Given the description of an element on the screen output the (x, y) to click on. 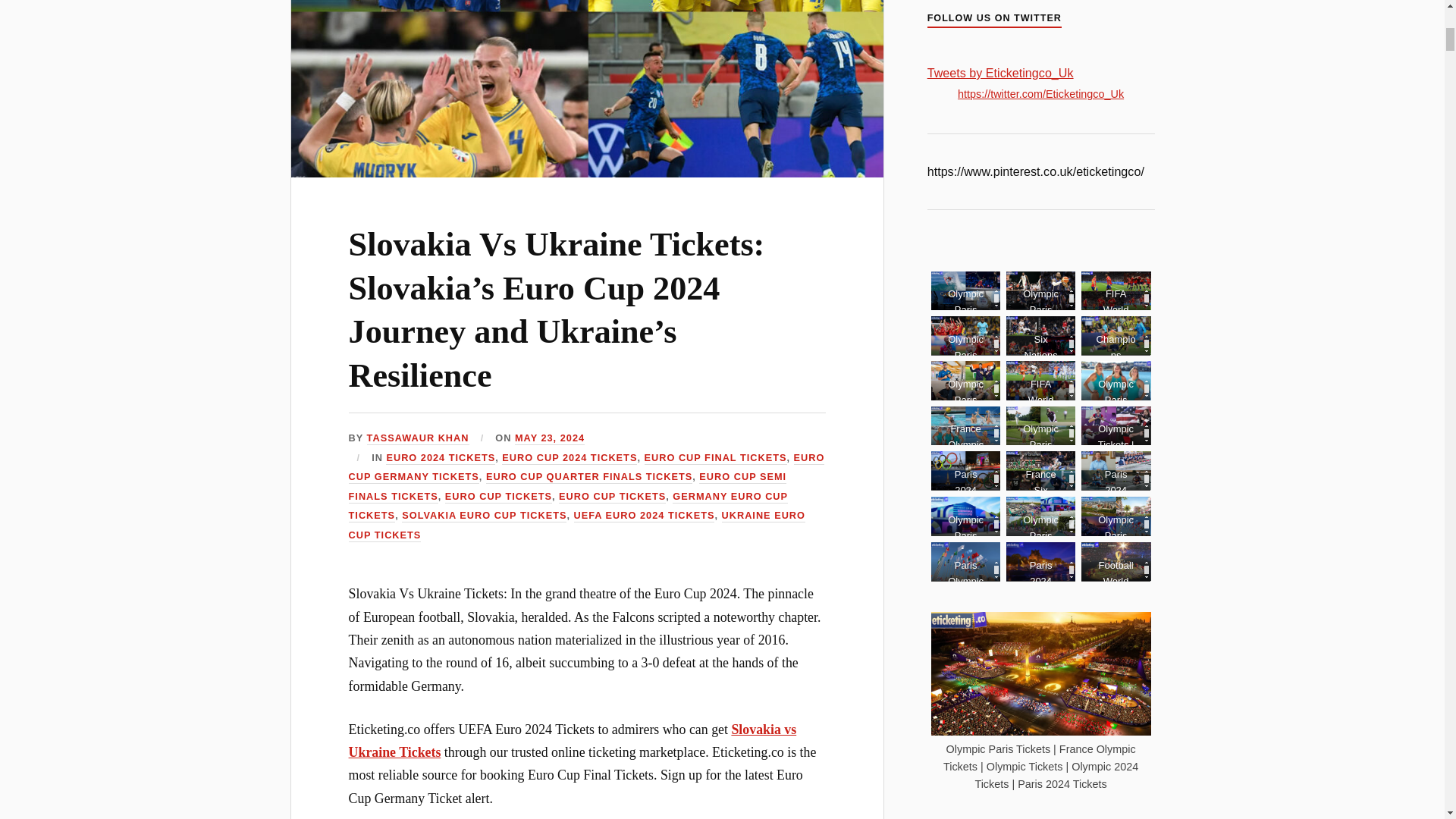
TASSAWAUR KHAN (417, 438)
MAY 23, 2024 (550, 438)
Posts by Tassawaur Khan (417, 438)
EURO 2024 TICKETS (440, 458)
EURO CUP GERMANY TICKETS (587, 468)
EURO CUP 2024 TICKETS (569, 458)
EURO CUP QUARTER FINALS TICKETS (589, 477)
EURO CUP FINAL TICKETS (716, 458)
